Given the description of an element on the screen output the (x, y) to click on. 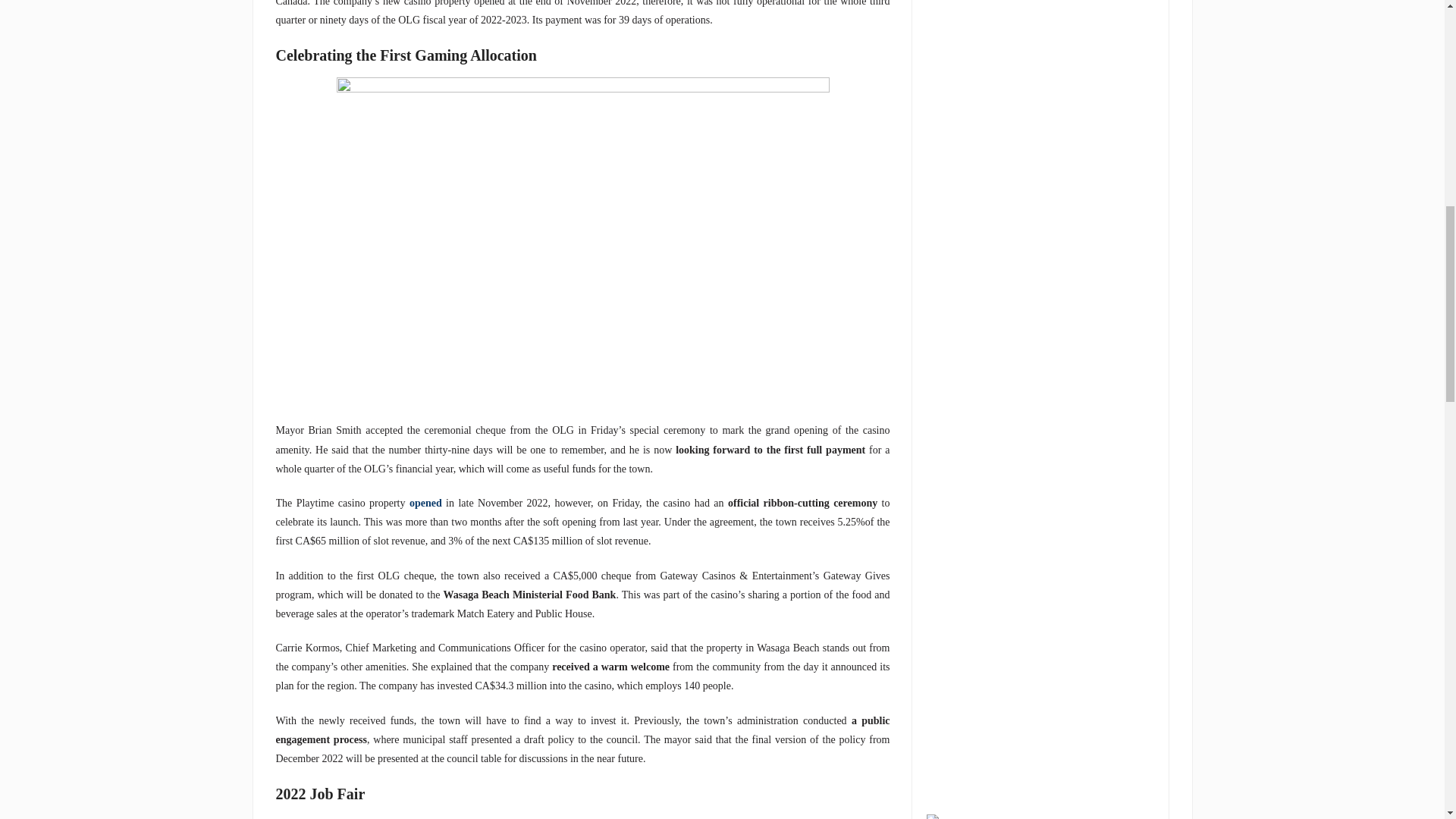
Turning Stone Resort Casino Poker Giveaways (941, 816)
